Given the description of an element on the screen output the (x, y) to click on. 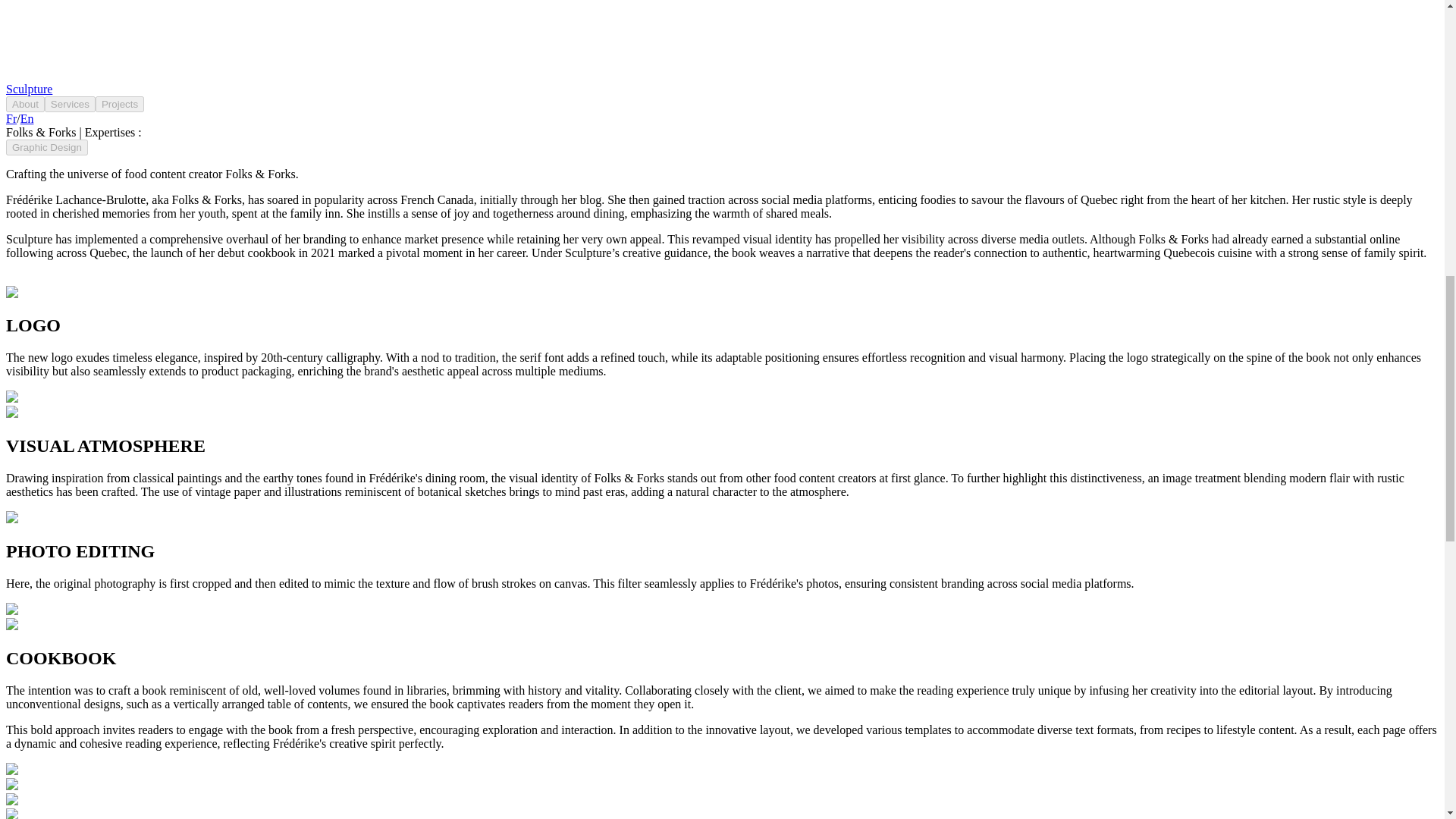
Projects (120, 104)
About (25, 104)
Sculpture (28, 88)
Graphic Design (46, 147)
Services (70, 104)
En (26, 118)
